Given the description of an element on the screen output the (x, y) to click on. 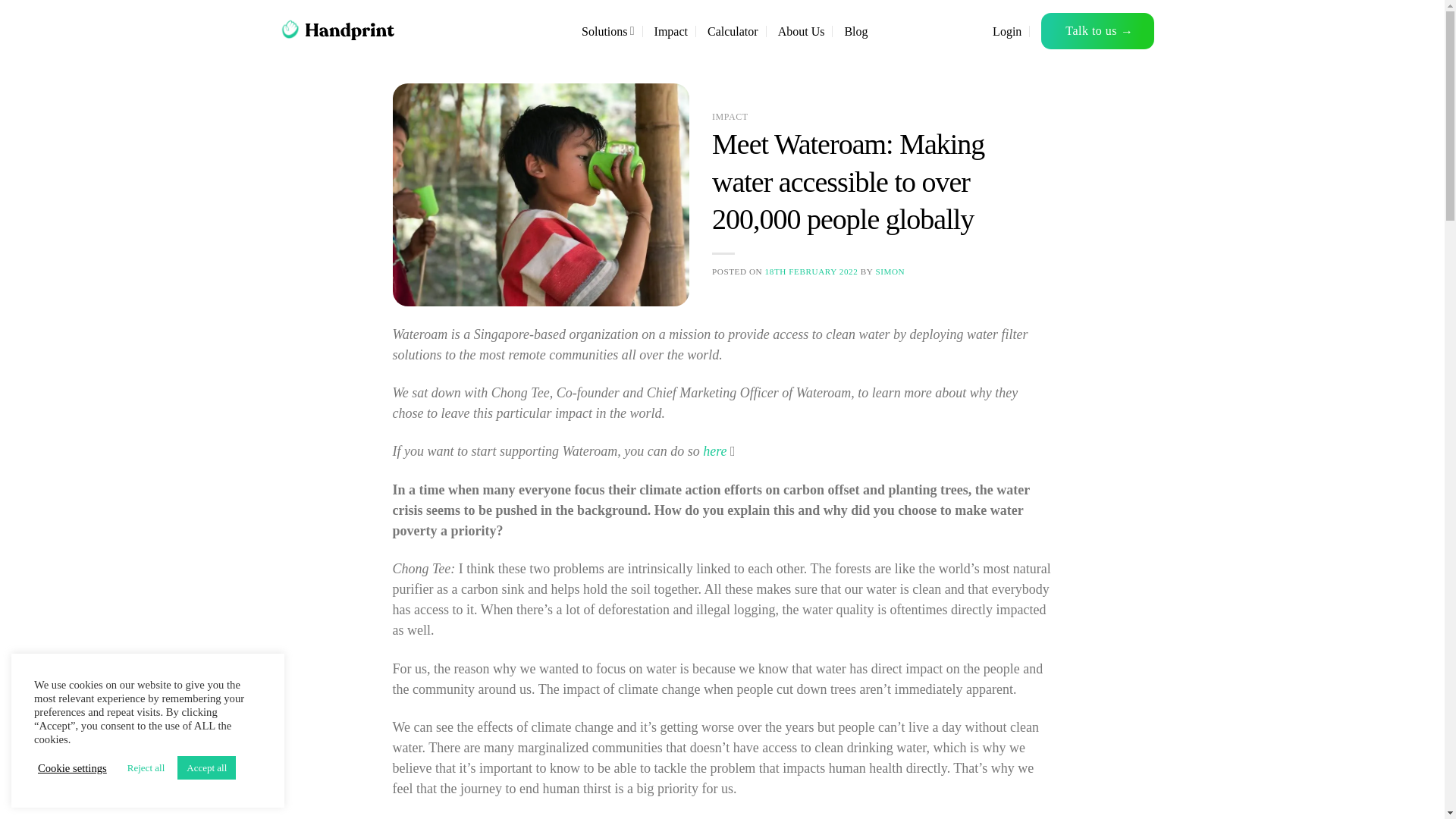
here (714, 450)
Handprint - Pairing business growth with positive impact (356, 30)
About Us (801, 30)
SIMON (889, 271)
Login (1007, 30)
Talk to us (1097, 31)
Impact (670, 30)
IMPACT (729, 116)
Solutions (607, 30)
Calculator (732, 30)
